Given the description of an element on the screen output the (x, y) to click on. 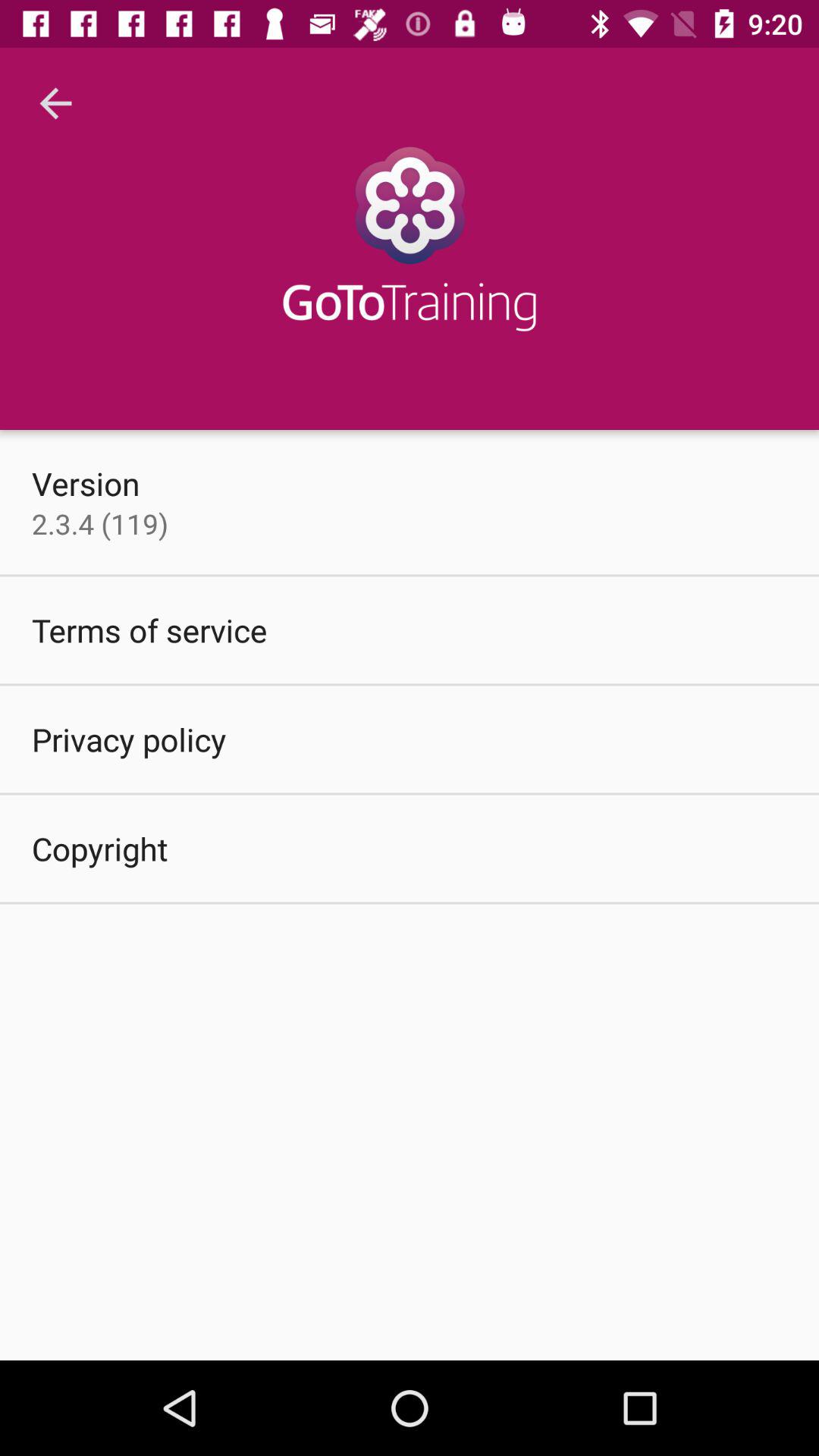
swipe until 2 3 4 icon (99, 523)
